Given the description of an element on the screen output the (x, y) to click on. 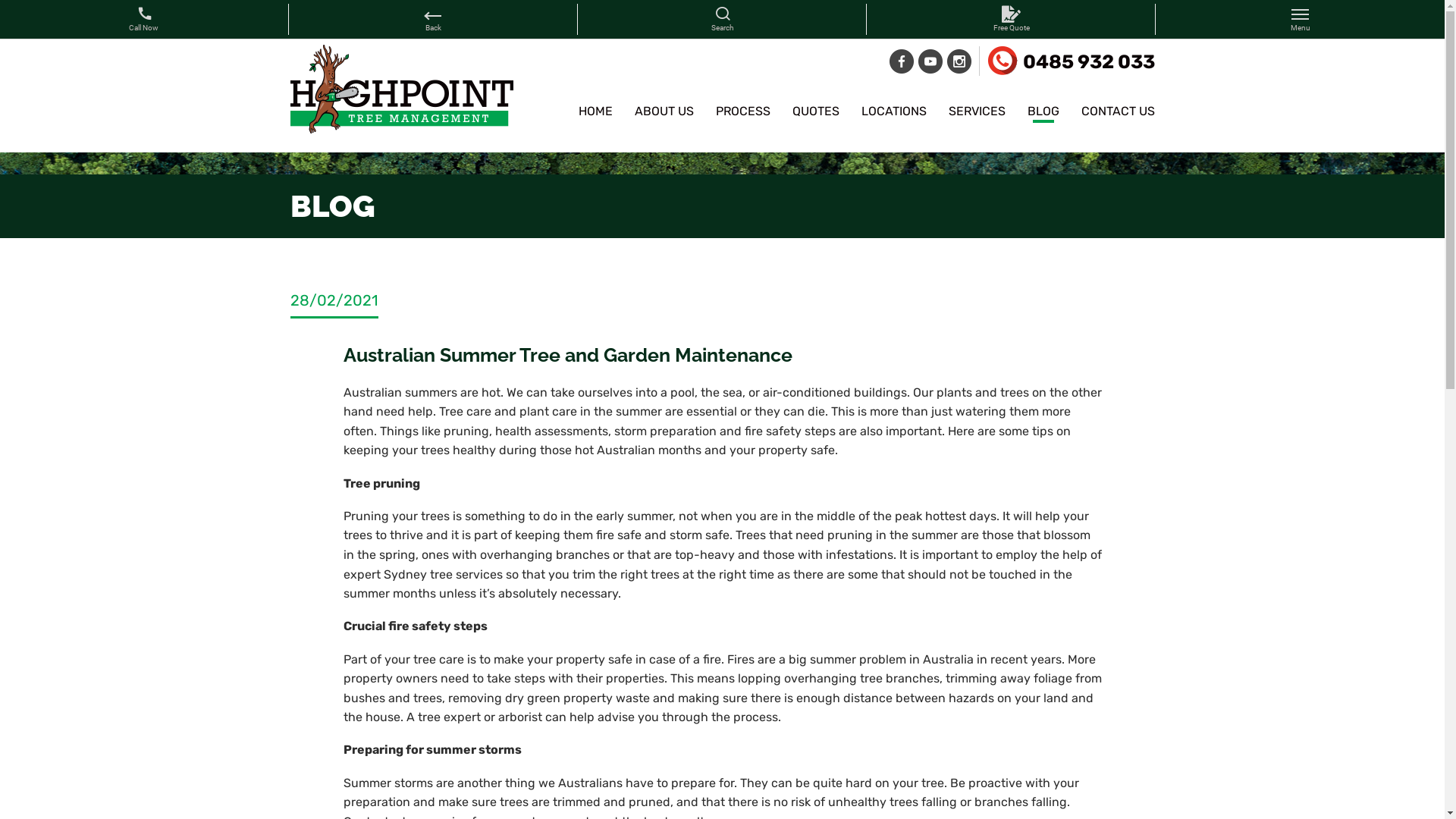
QUOTES Element type: text (814, 113)
PROCESS Element type: text (742, 113)
LOCATIONS Element type: text (893, 113)
SERVICES Element type: text (975, 113)
CONTACT US Element type: text (1117, 113)
0485 932 033 Element type: text (1070, 61)
HOME Element type: text (594, 113)
BLOG Element type: text (1042, 113)
ABOUT US Element type: text (663, 113)
